Given the description of an element on the screen output the (x, y) to click on. 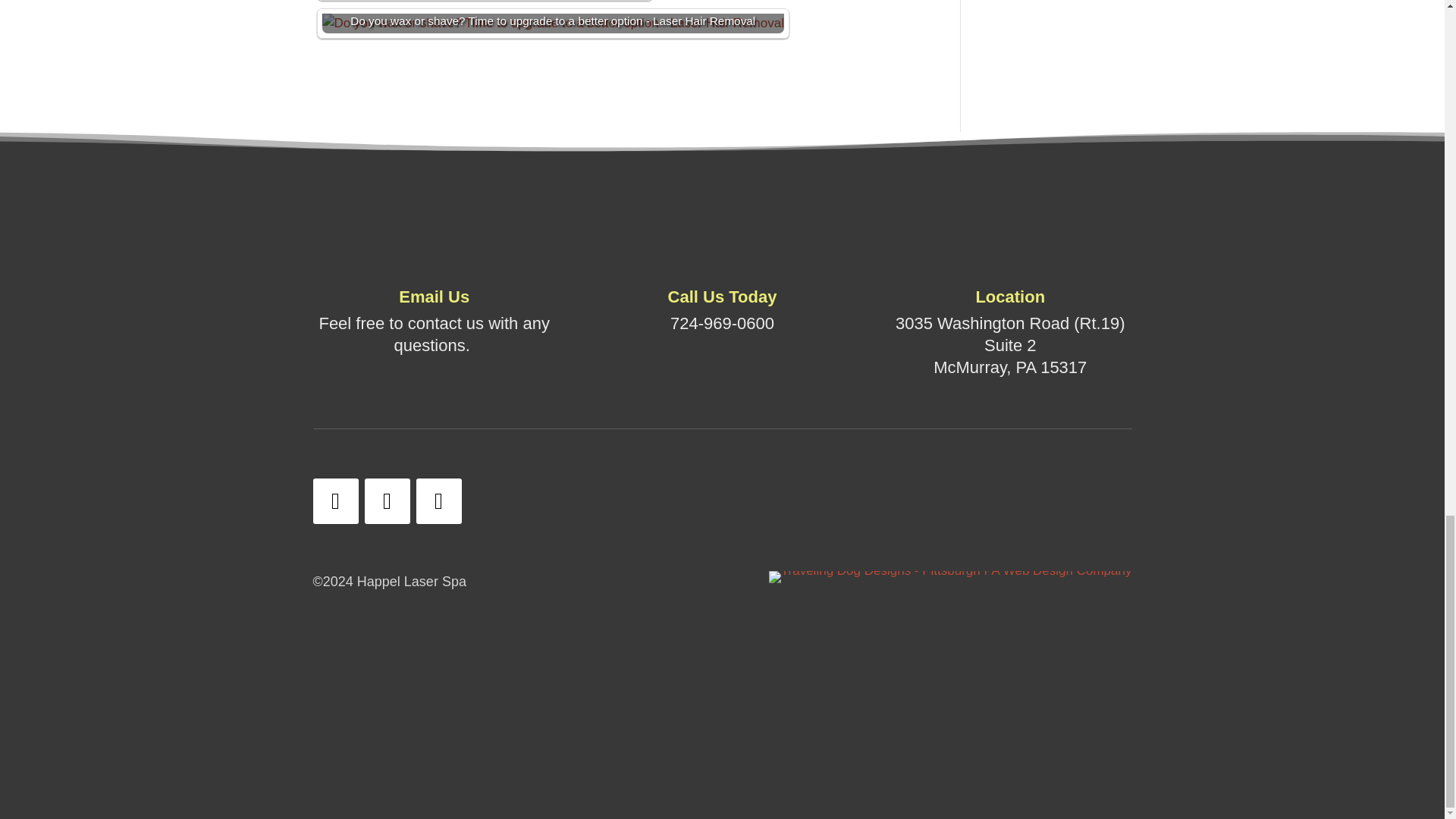
Follow on Instagram (386, 501)
Follow on Youtube (437, 501)
Traveling Dog Designs - Pittsburgh PA Web Design Company (950, 576)
Follow on Facebook (335, 501)
